Given the description of an element on the screen output the (x, y) to click on. 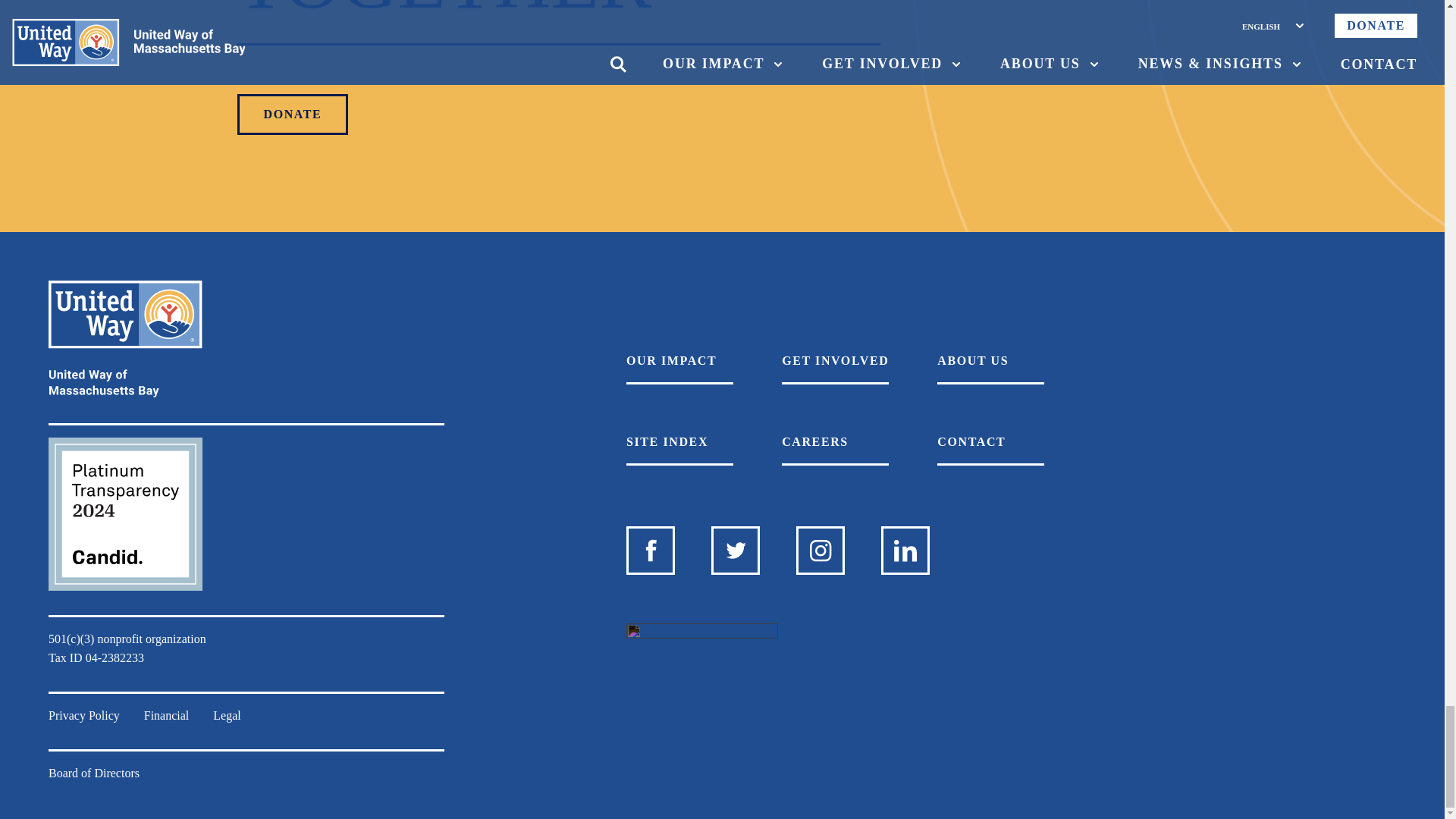
Financial (166, 714)
CAREERS (834, 449)
ABOUT US (990, 368)
CONTACT (990, 449)
Legal (226, 714)
OUR IMPACT (679, 368)
DONATE (291, 114)
GET INVOLVED (834, 368)
Privacy Policy (83, 714)
SITE INDEX (679, 449)
